Given the description of an element on the screen output the (x, y) to click on. 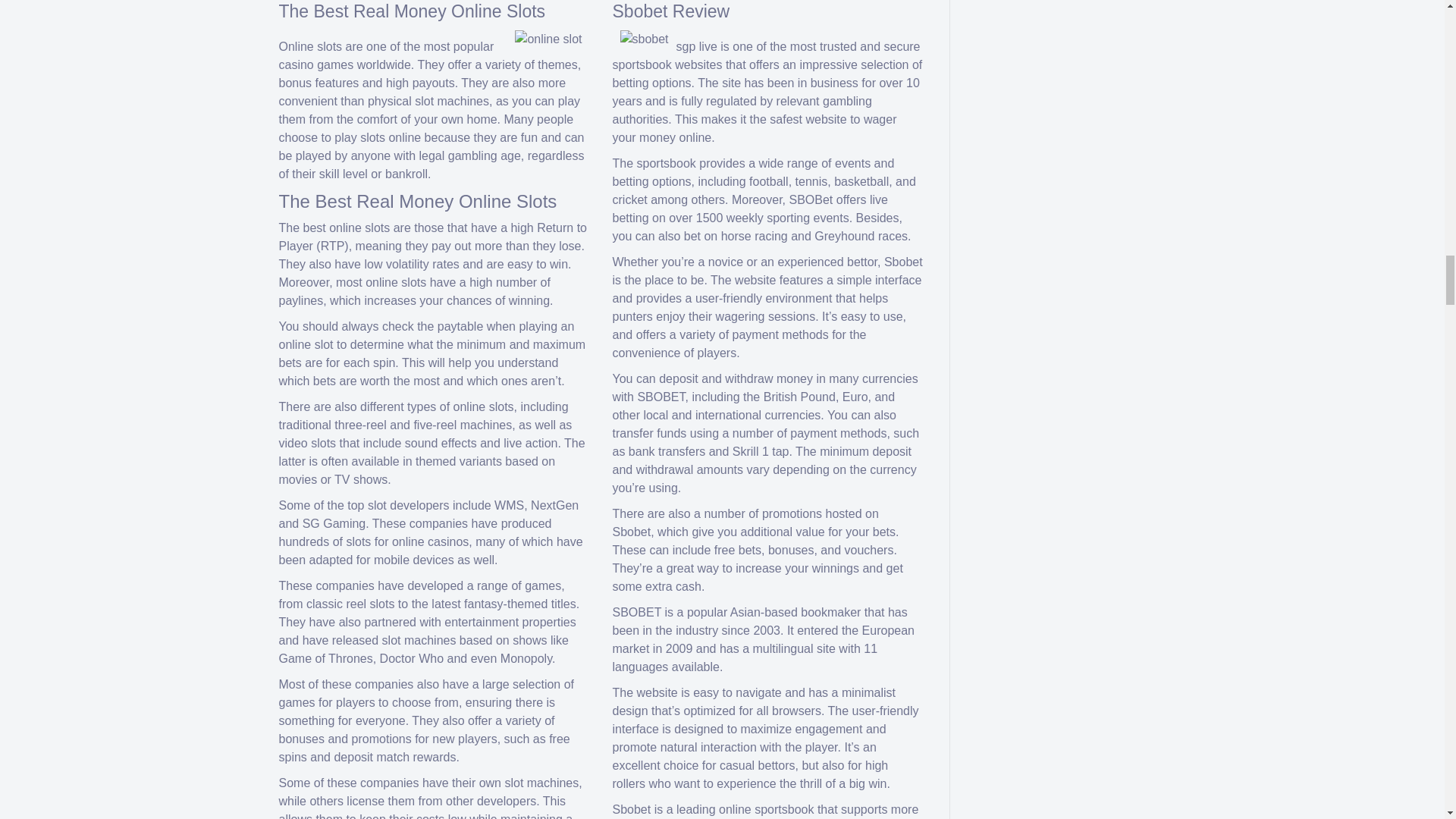
Sbobet Review (671, 11)
The Best Real Money Online Slots (412, 11)
sgp live (697, 46)
